Given the description of an element on the screen output the (x, y) to click on. 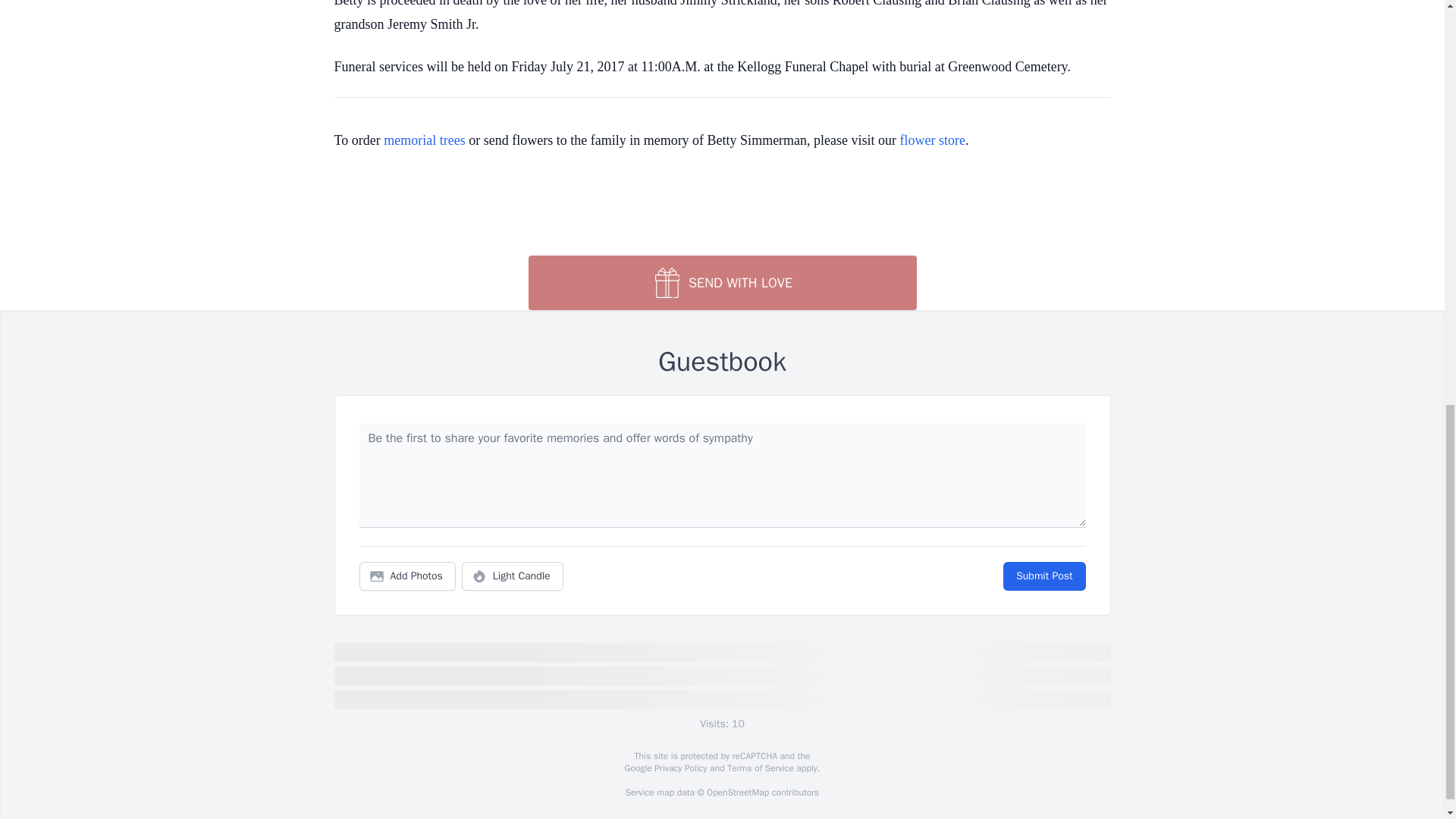
flower store (932, 140)
memorial trees (424, 140)
Terms of Service (759, 767)
Add Photos (407, 575)
SEND WITH LOVE (721, 282)
Submit Post (1043, 575)
OpenStreetMap (737, 792)
Privacy Policy (679, 767)
Light Candle (512, 575)
